Given the description of an element on the screen output the (x, y) to click on. 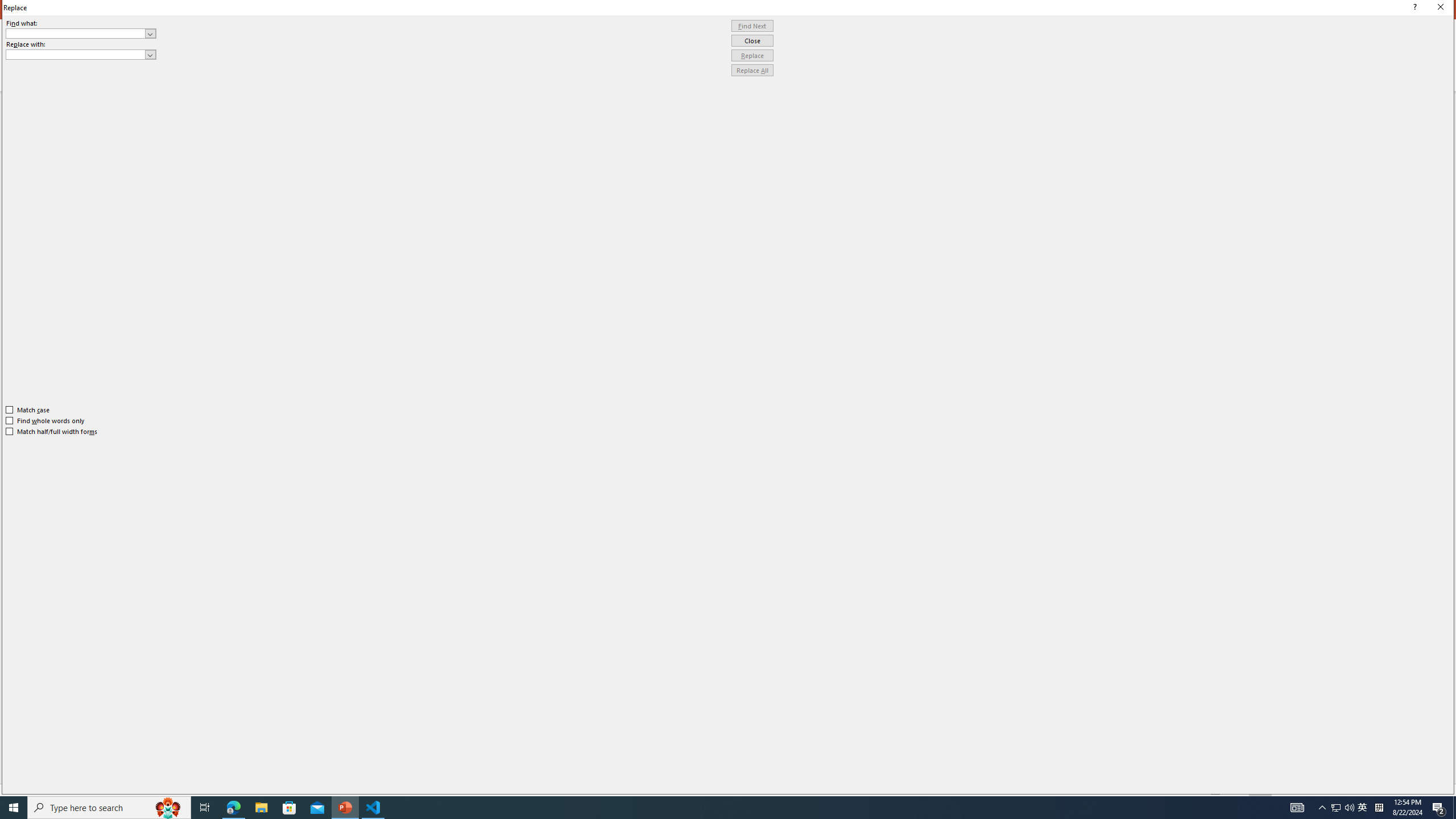
Replace with (75, 53)
Match case (27, 409)
Find what (75, 33)
Find what (80, 33)
Replace All (752, 69)
Replace (752, 55)
Match half/full width forms (52, 431)
Context help (1413, 8)
Find whole words only (45, 420)
Replace with (80, 54)
Find Next (752, 25)
